Given the description of an element on the screen output the (x, y) to click on. 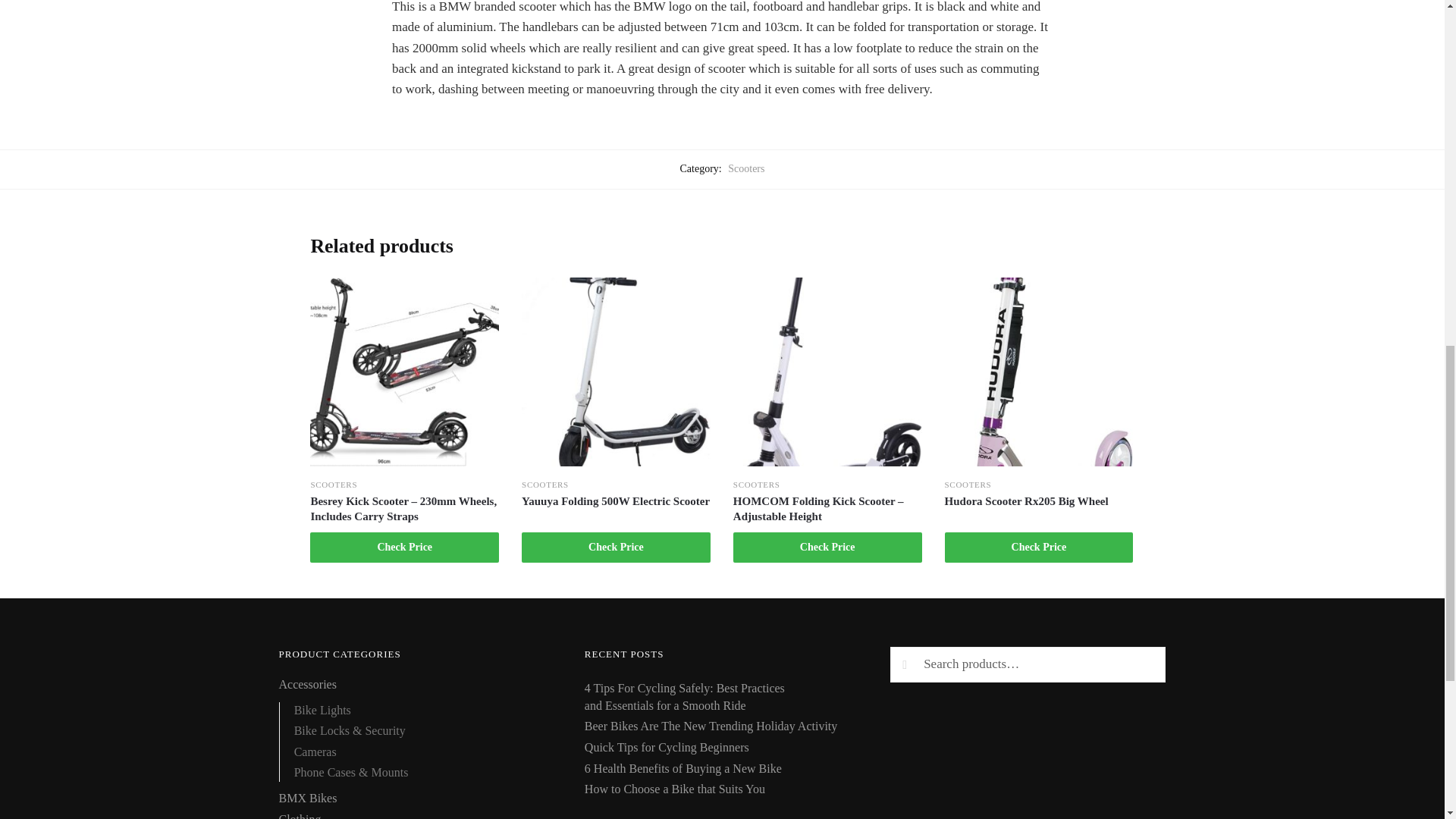
Yauuya Folding 500W Electric Scooter (615, 500)
Yauuya Folding 500W Electric Scooter (615, 371)
Check Price (615, 547)
Hudora Scooter Rx205 Big Wheel (1039, 500)
Hudora Scooter Rx205 Big Wheel (1039, 371)
SCOOTERS (545, 483)
Check Price (404, 547)
SCOOTERS (333, 483)
Scooters (746, 168)
Yauuya Folding 500W Electric Scooter (615, 500)
